Given the description of an element on the screen output the (x, y) to click on. 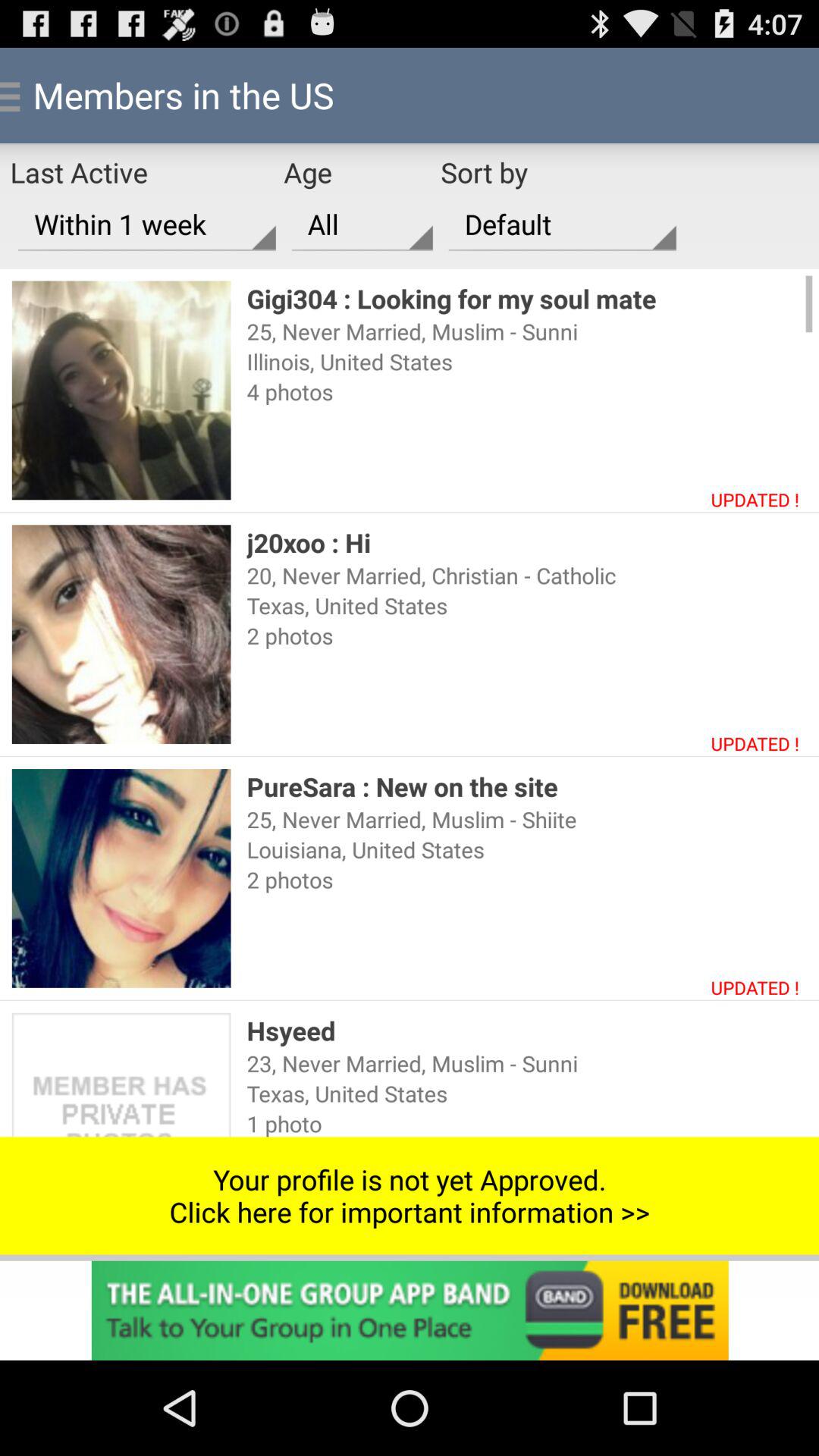
click advertisement banner (409, 1310)
